Given the description of an element on the screen output the (x, y) to click on. 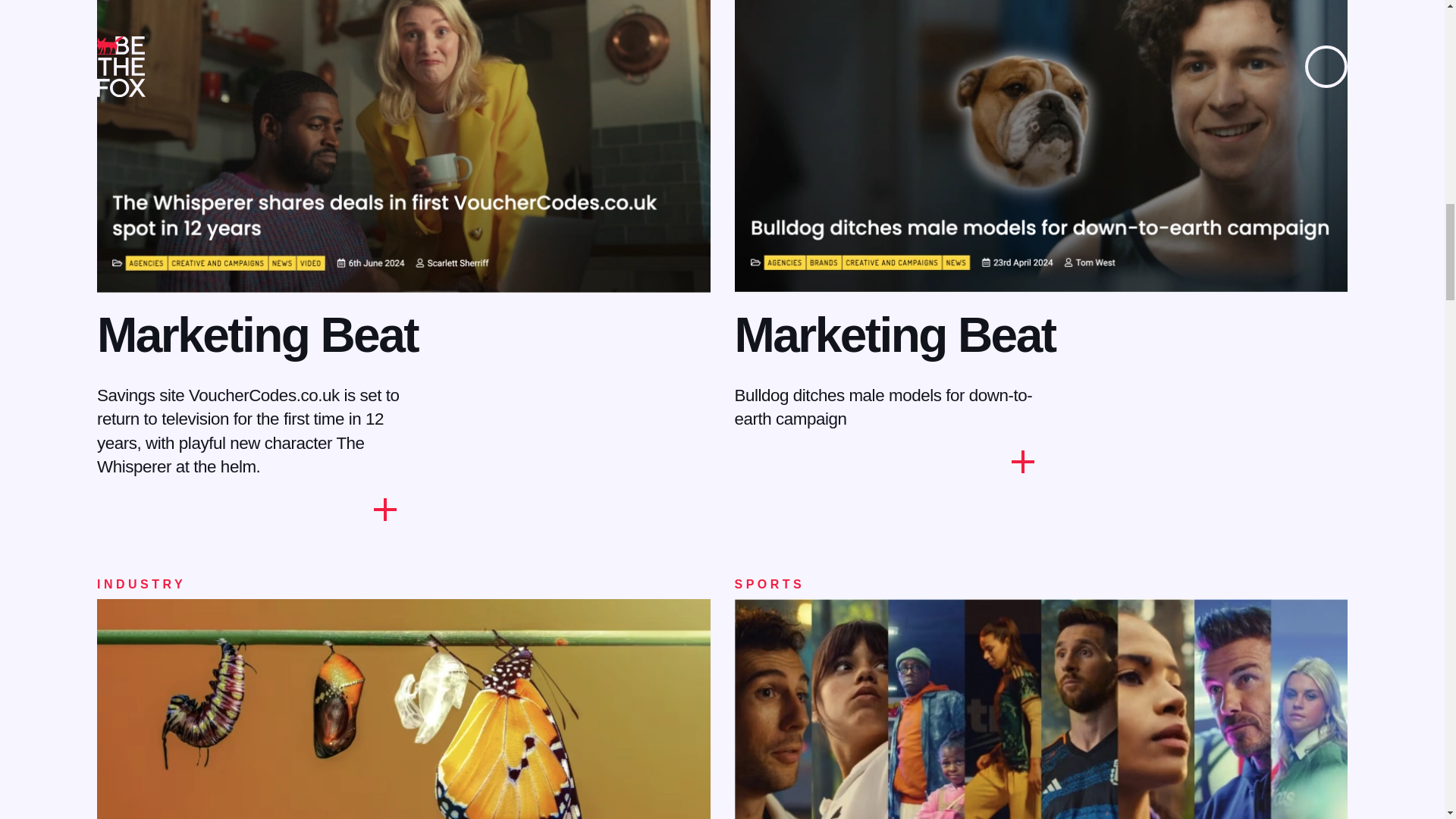
Marketing Beat (893, 334)
Marketing Beat (257, 334)
